Given the description of an element on the screen output the (x, y) to click on. 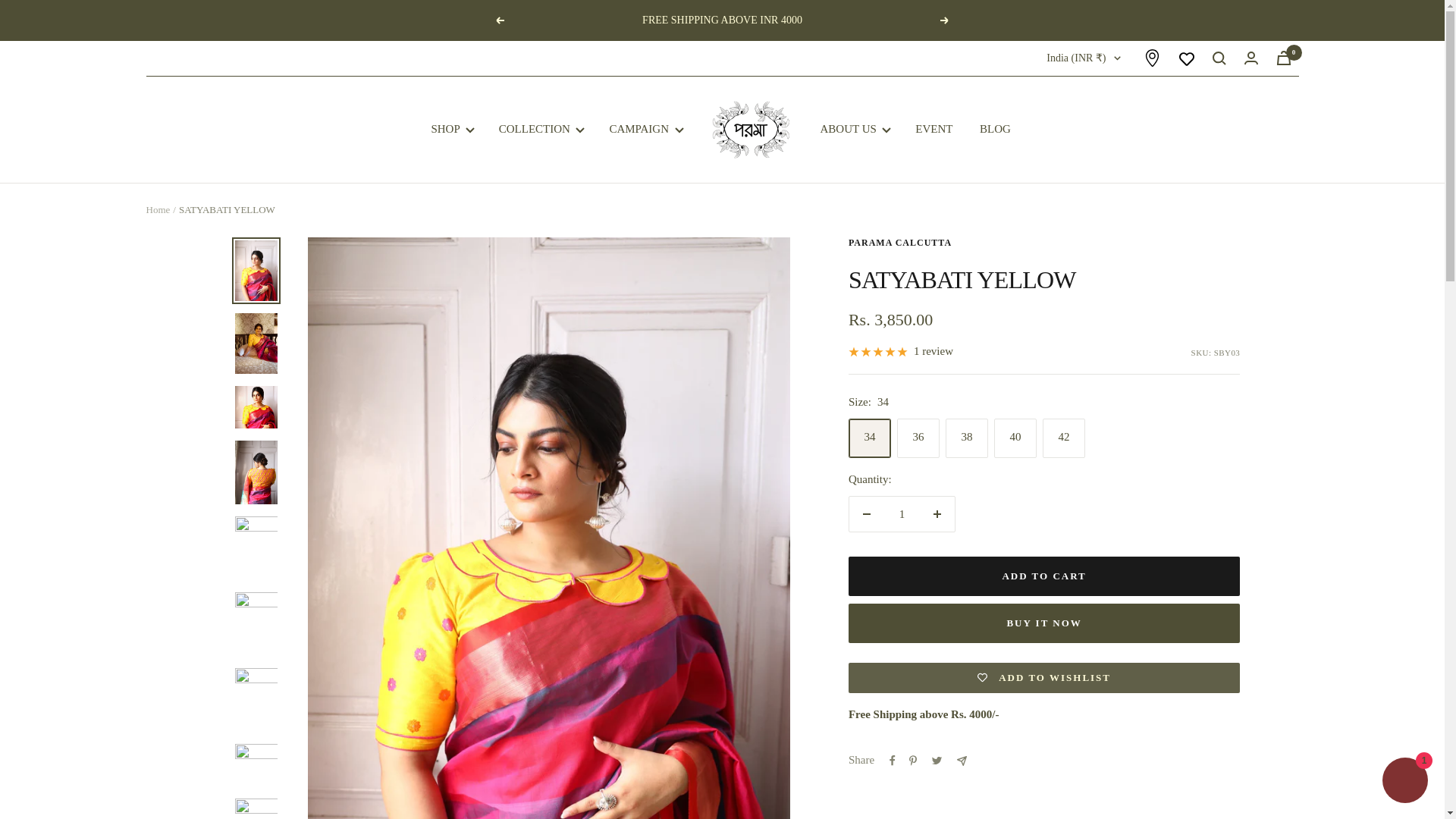
BA (982, 761)
AW (982, 361)
AC (982, 385)
AL (982, 160)
DZ (982, 185)
BH (982, 510)
AO (982, 235)
AD (982, 210)
BW (982, 786)
BM (982, 686)
AR (982, 311)
AM (982, 335)
BR (982, 810)
